Given the description of an element on the screen output the (x, y) to click on. 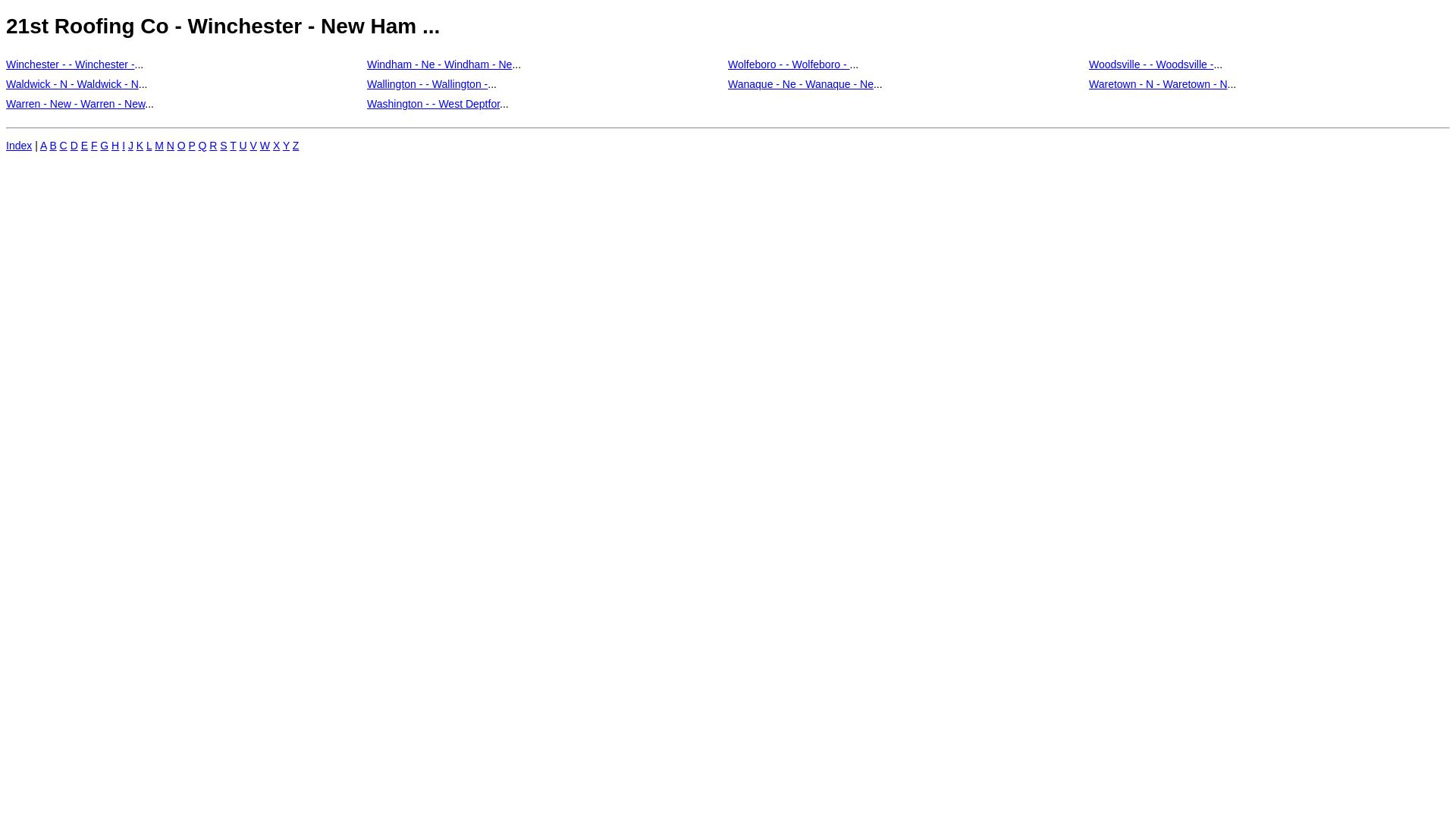
S Element type: text (222, 145)
B Element type: text (52, 145)
W Element type: text (264, 145)
Y Element type: text (285, 145)
P Element type: text (191, 145)
O Element type: text (181, 145)
Q Element type: text (202, 145)
D Element type: text (74, 145)
R Element type: text (212, 145)
E Element type: text (84, 145)
Wolfeboro - - Wolfeboro - Element type: text (789, 63)
G Element type: text (104, 145)
Wanaque - Ne - Wanaque - Ne Element type: text (800, 83)
V Element type: text (253, 145)
N Element type: text (170, 145)
Winchester - - Winchester - Element type: text (70, 63)
J Element type: text (130, 145)
I Element type: text (123, 145)
K Element type: text (139, 145)
C Element type: text (63, 145)
Index Element type: text (18, 145)
F Element type: text (94, 145)
Waretown - N - Waretown - N Element type: text (1157, 83)
Washington - - West Deptfor Element type: text (433, 103)
U Element type: text (243, 145)
Woodsville - - Woodsville - Element type: text (1150, 63)
T Element type: text (232, 145)
X Element type: text (276, 145)
M Element type: text (158, 145)
Windham - Ne - Windham - Ne Element type: text (439, 63)
A Element type: text (43, 145)
Waldwick - N - Waldwick - N Element type: text (72, 83)
Wallington - - Wallington - Element type: text (427, 83)
H Element type: text (115, 145)
Warren - New - Warren - New Element type: text (75, 103)
L Element type: text (148, 145)
Z Element type: text (295, 145)
